Given the description of an element on the screen output the (x, y) to click on. 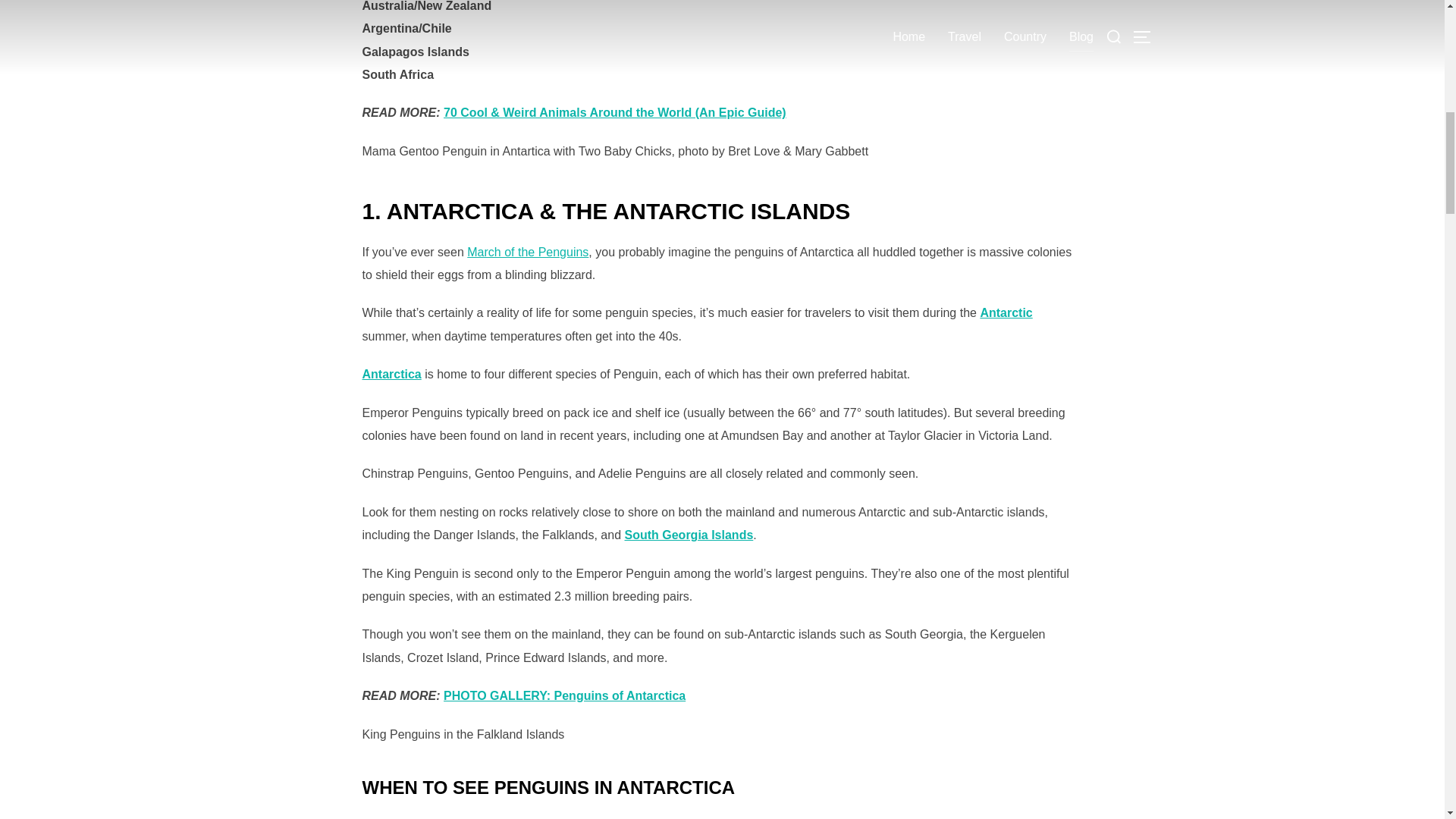
Antarctica (392, 373)
March of the Penguins (527, 251)
South Georgia Islands (689, 534)
Antarctic (1005, 312)
PHOTO GALLERY: Penguins of Antarctica (564, 695)
